Given the description of an element on the screen output the (x, y) to click on. 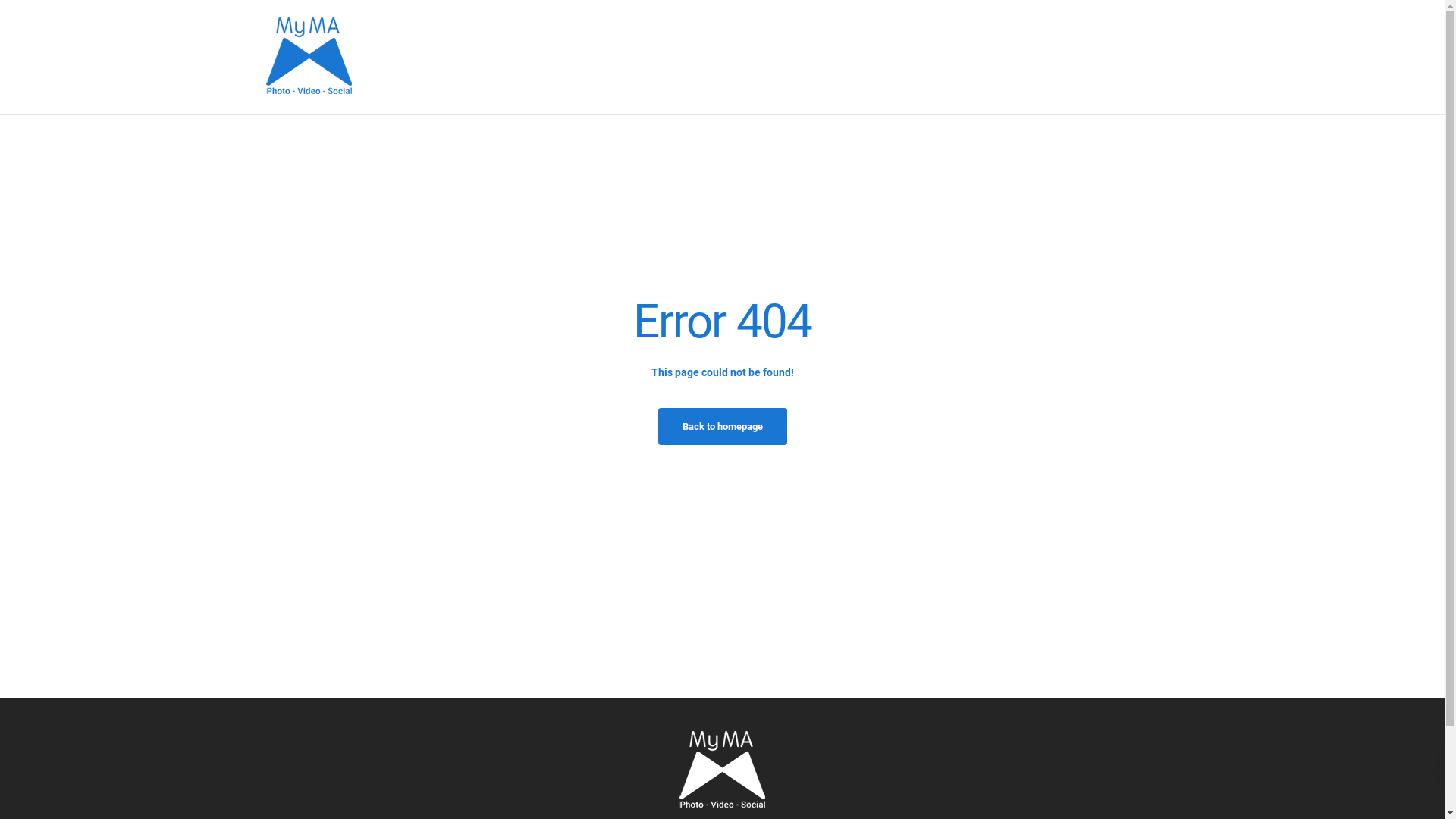
Back to homepage Element type: text (722, 426)
Home Element type: text (930, 55)
Our Solutions Element type: text (1069, 55)
Contact Us Element type: text (1154, 55)
(03) 7046 6823 Element type: text (743, 57)
About Us Element type: text (988, 55)
